Given the description of an element on the screen output the (x, y) to click on. 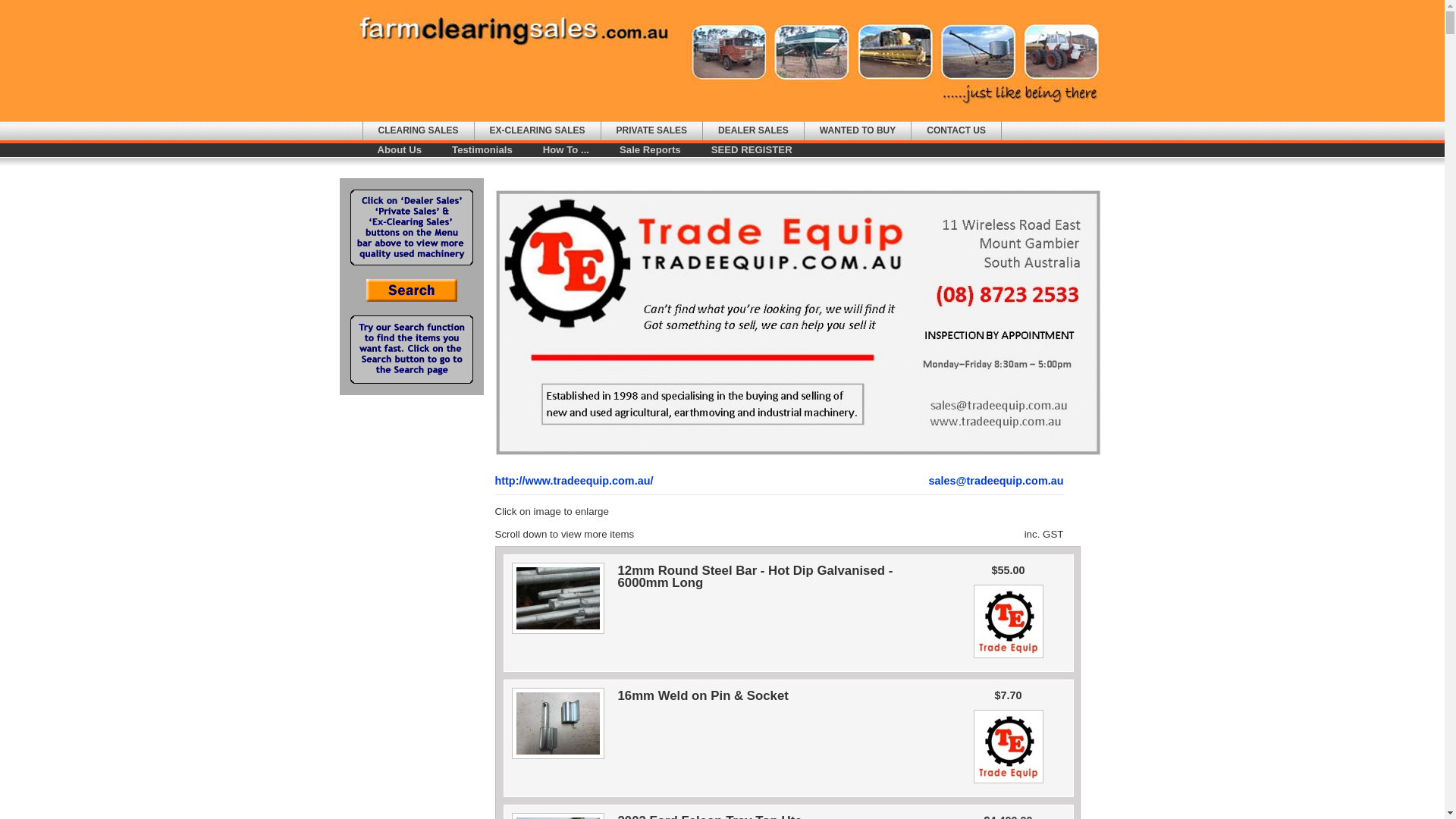
click here to see dealer items Element type: hover (1008, 657)
CONTACT US Element type: text (956, 130)
click to enlarge Element type: hover (557, 634)
WANTED TO BUY Element type: text (857, 130)
Trade Equip Element type: hover (797, 322)
DEALER SALES Element type: text (752, 130)
EX-CLEARING SALES Element type: text (537, 130)
Testimonials Element type: text (481, 149)
search farm items Element type: hover (410, 298)
CLEARING SALES Element type: text (417, 130)
PRIVATE SALES Element type: text (651, 130)
click here to see dealer items Element type: hover (1008, 783)
Sale Reports Element type: text (650, 149)
sales@tradeequip.com.au Element type: text (995, 480)
SEED REGISTER Element type: text (751, 149)
About Us Element type: text (399, 149)
click to enlarge Element type: hover (557, 759)
http://www.tradeequip.com.au/ Element type: text (573, 480)
How To ... Element type: text (565, 149)
